Given the description of an element on the screen output the (x, y) to click on. 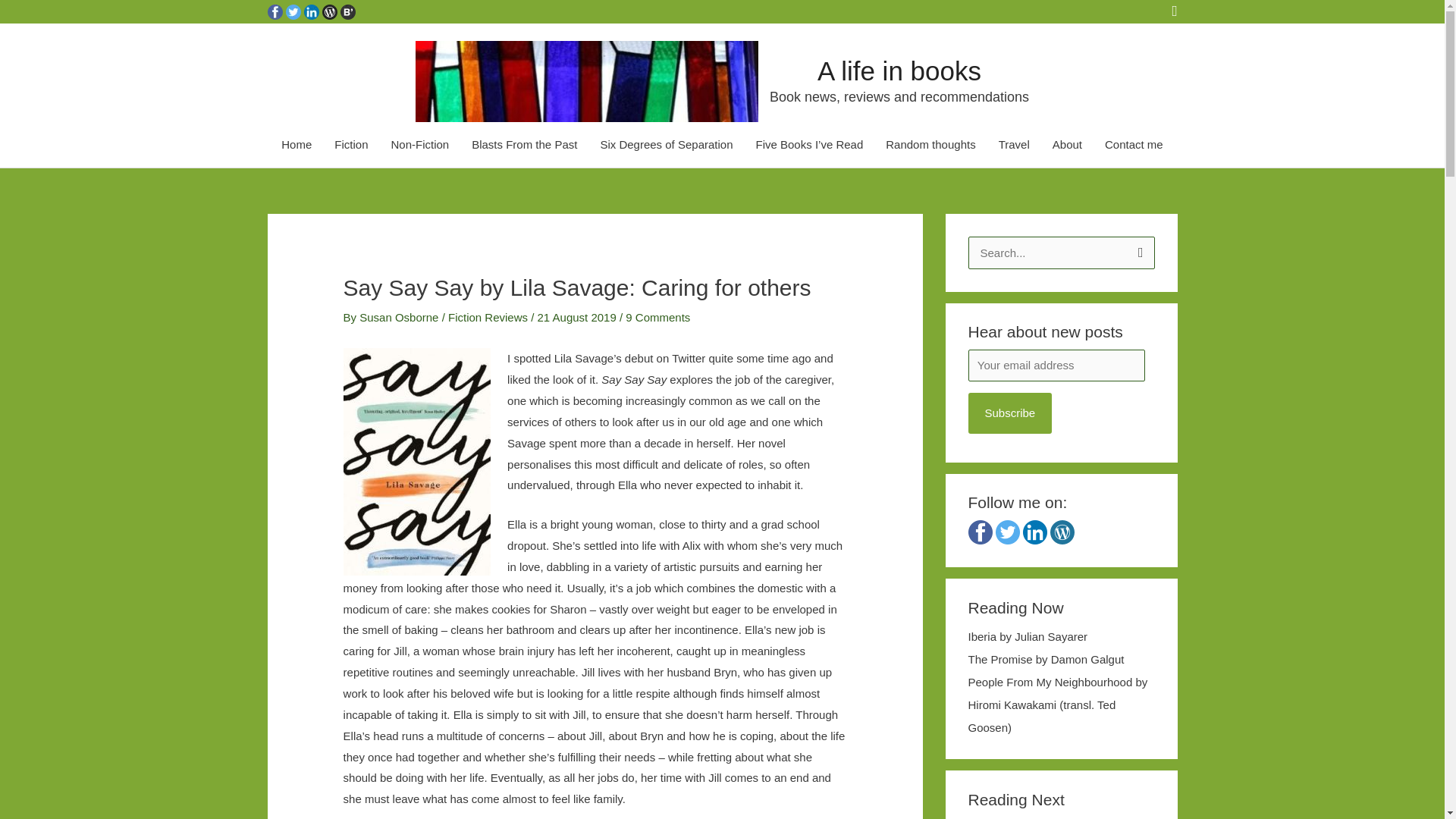
Home (296, 144)
About (1067, 144)
Contact me (1133, 144)
Susan Osborne (400, 317)
Follow Me on Facebook (274, 10)
9 Comments (658, 317)
View all posts by Susan Osborne (400, 317)
Fiction (350, 144)
Search (1137, 251)
Random thoughts (931, 144)
Follow Me on Bloglovin' (347, 10)
Search (1137, 251)
Fiction Reviews (487, 317)
A life in books (898, 70)
Travel (1014, 144)
